Given the description of an element on the screen output the (x, y) to click on. 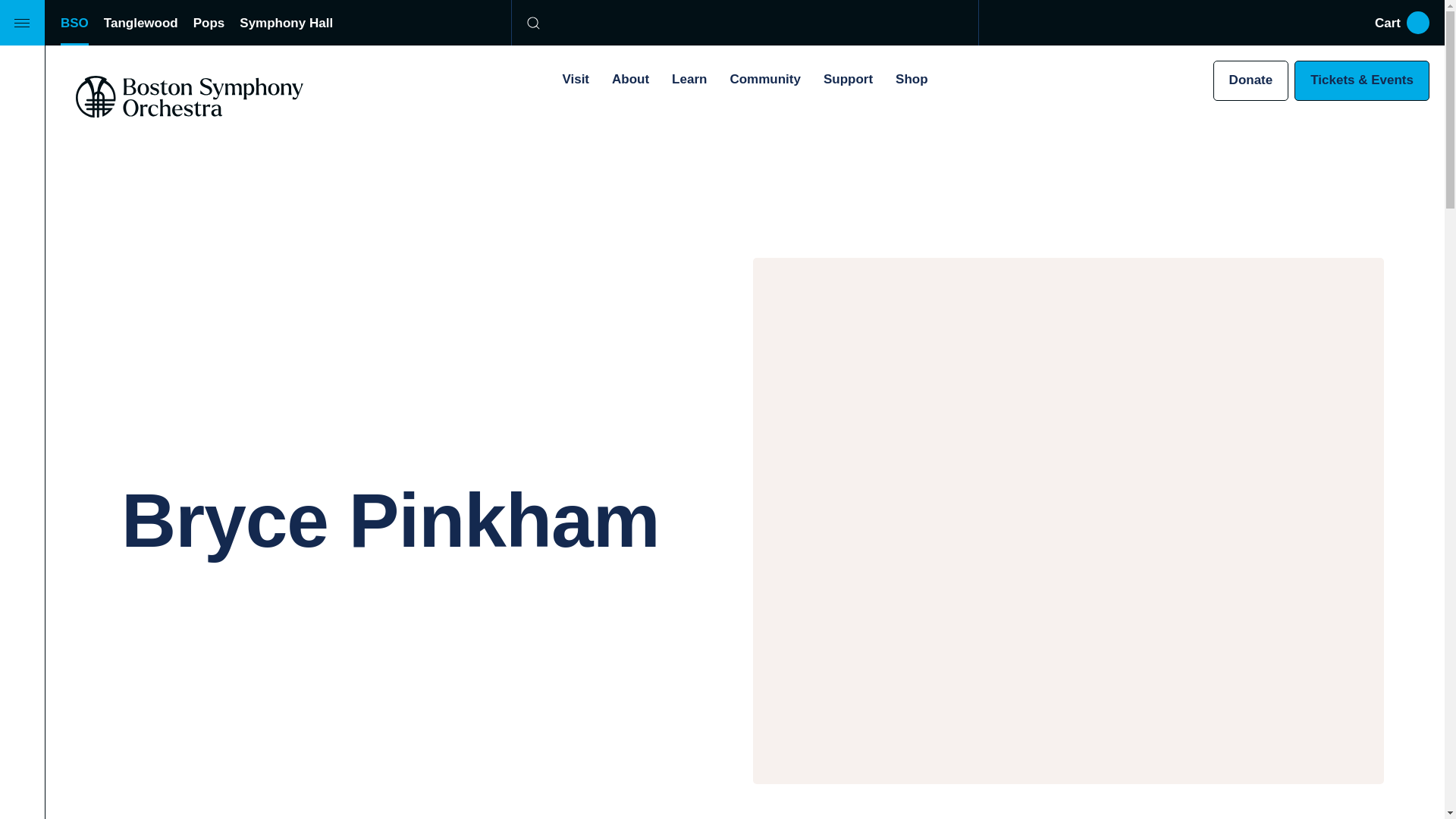
Menu (22, 22)
Symphony Hall (286, 22)
Tanglewood (140, 22)
